Given the description of an element on the screen output the (x, y) to click on. 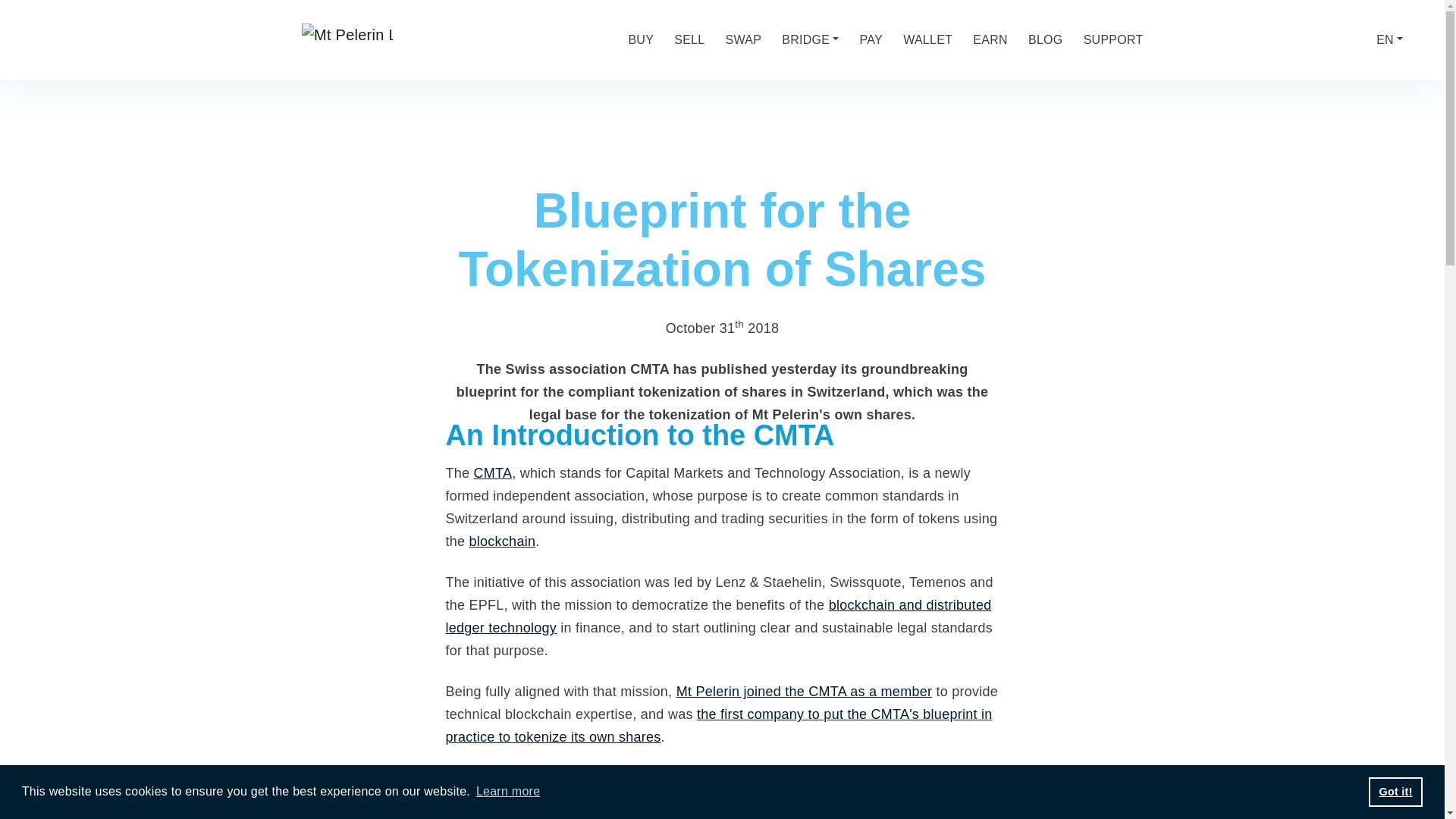
SWAP (743, 35)
BRIDGE (809, 38)
Got it! (1395, 791)
EN (1389, 39)
PAY (871, 39)
WALLET (927, 39)
CMTA (493, 473)
blockchain (501, 540)
Learn more (508, 791)
BLOG (1044, 39)
EARN (989, 39)
Mt Pelerin joined the CMTA as a member (805, 691)
SELL (689, 30)
SUPPORT (1112, 39)
